Given the description of an element on the screen output the (x, y) to click on. 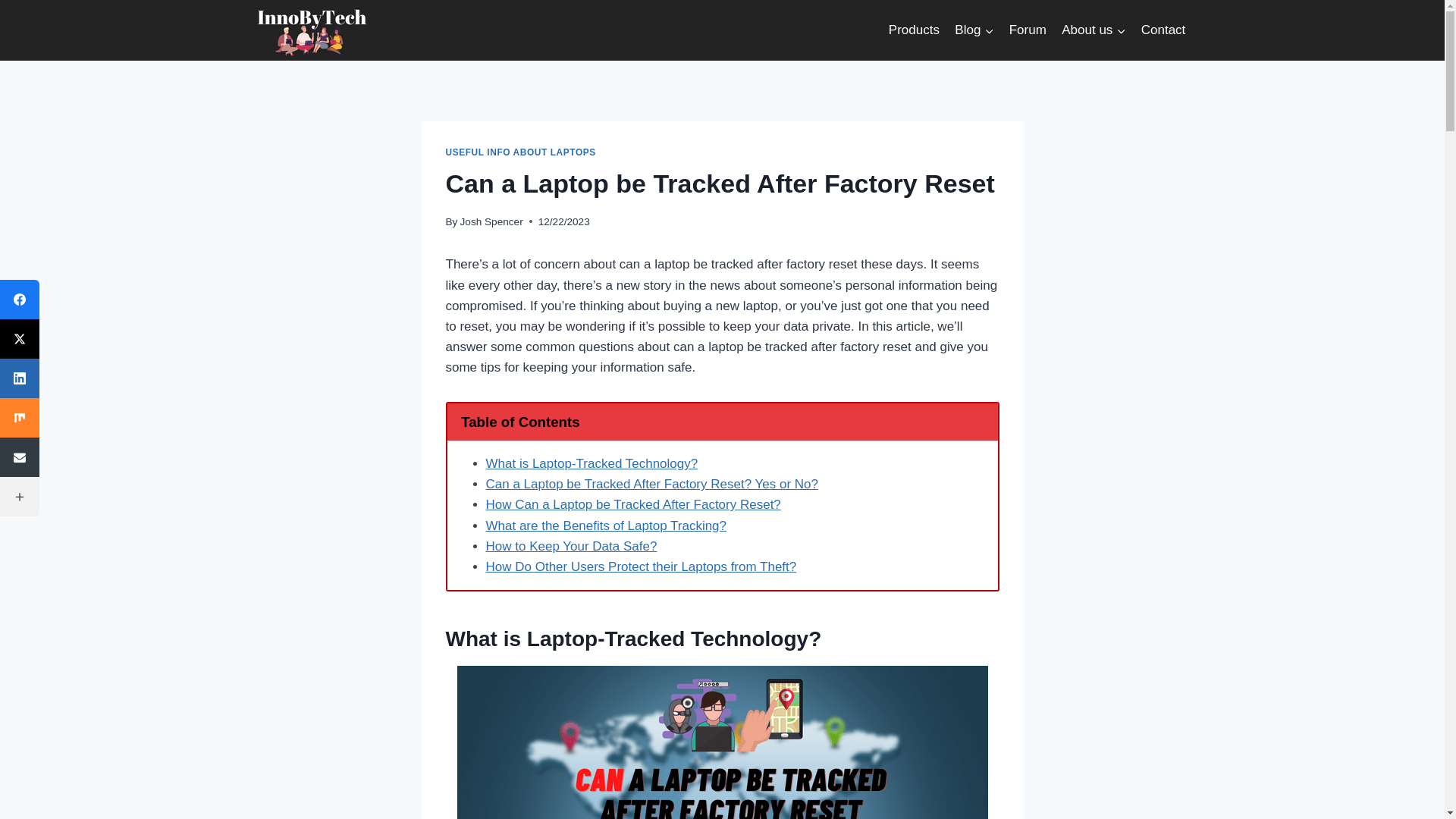
USEFUL INFO ABOUT LAPTOPS (520, 152)
About us (1093, 30)
Products (913, 30)
What are the Benefits of Laptop Tracking? (605, 525)
Can a Laptop be Tracked After Factory Reset? Yes or No? (650, 483)
How Can a Laptop be Tracked After Factory Reset? (632, 504)
Forum (1027, 30)
Blog (974, 30)
How to Keep Your Data Safe? (570, 545)
How Do Other Users Protect their Laptops from Theft? (640, 566)
Josh Spencer (491, 221)
Contact (1163, 30)
What is Laptop-Tracked Technology? (590, 463)
